Given the description of an element on the screen output the (x, y) to click on. 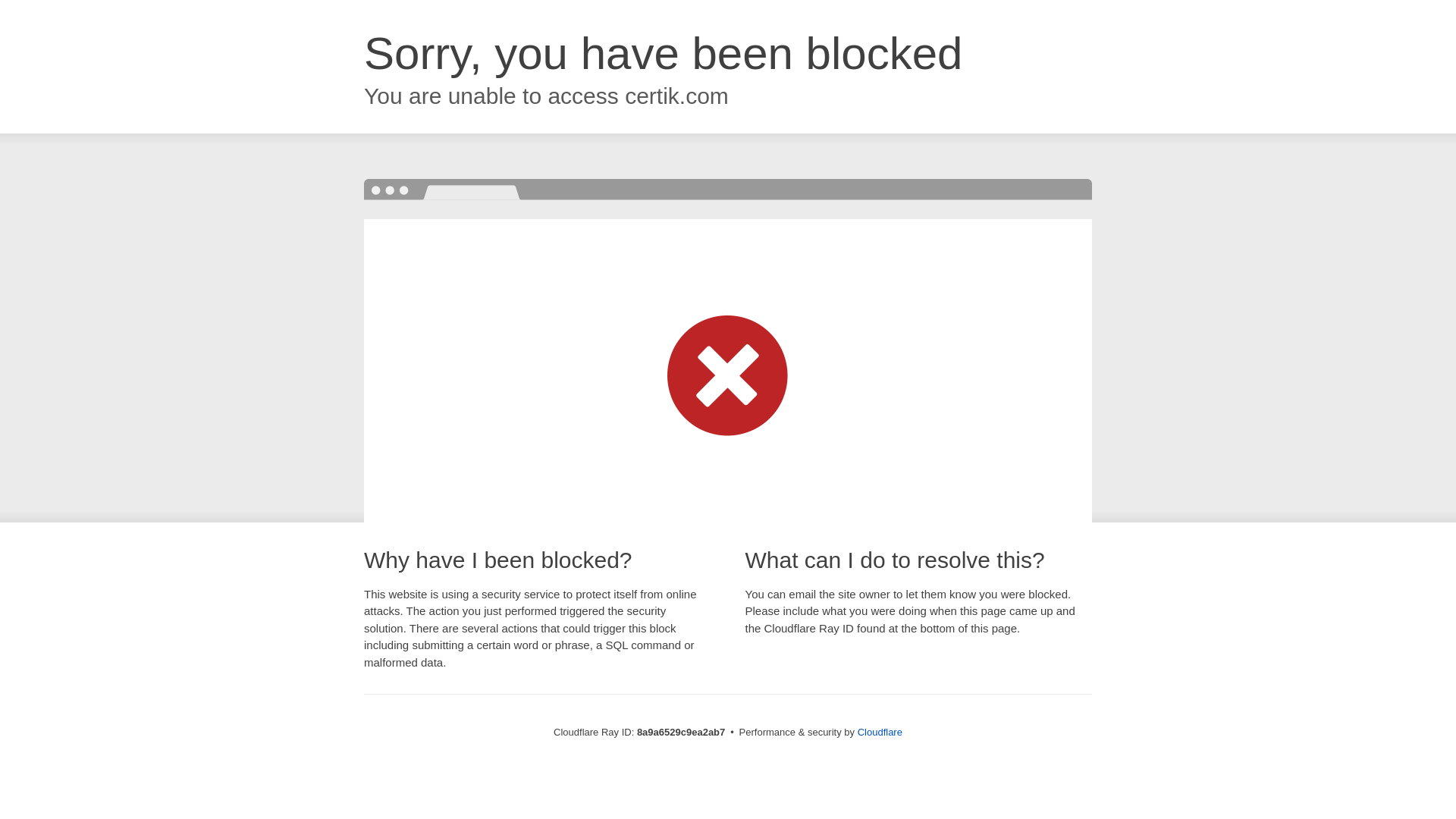
Cloudflare (879, 731)
